Given the description of an element on the screen output the (x, y) to click on. 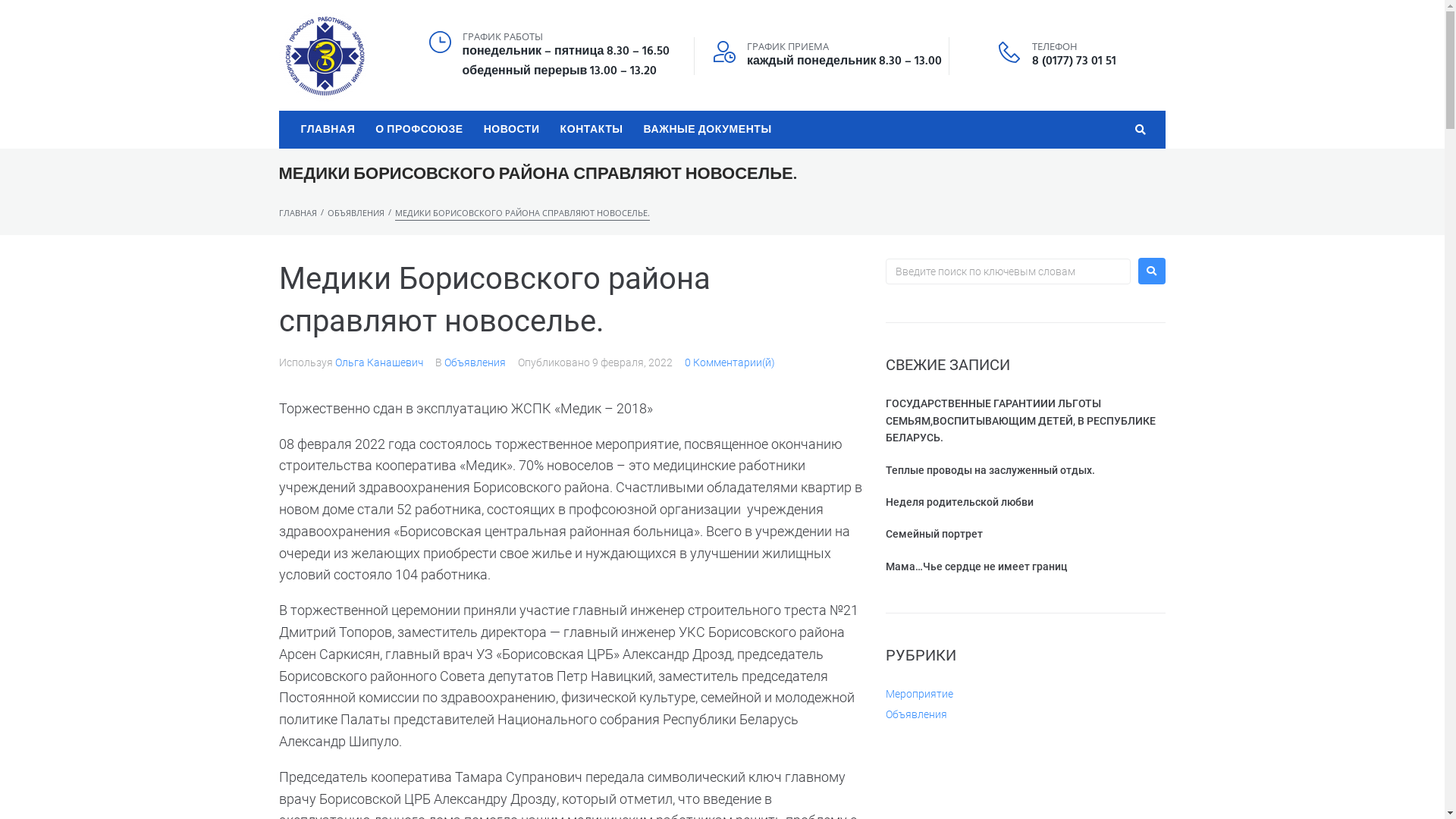
8 (0177) 73 01 51 Element type: text (1074, 61)
